Given the description of an element on the screen output the (x, y) to click on. 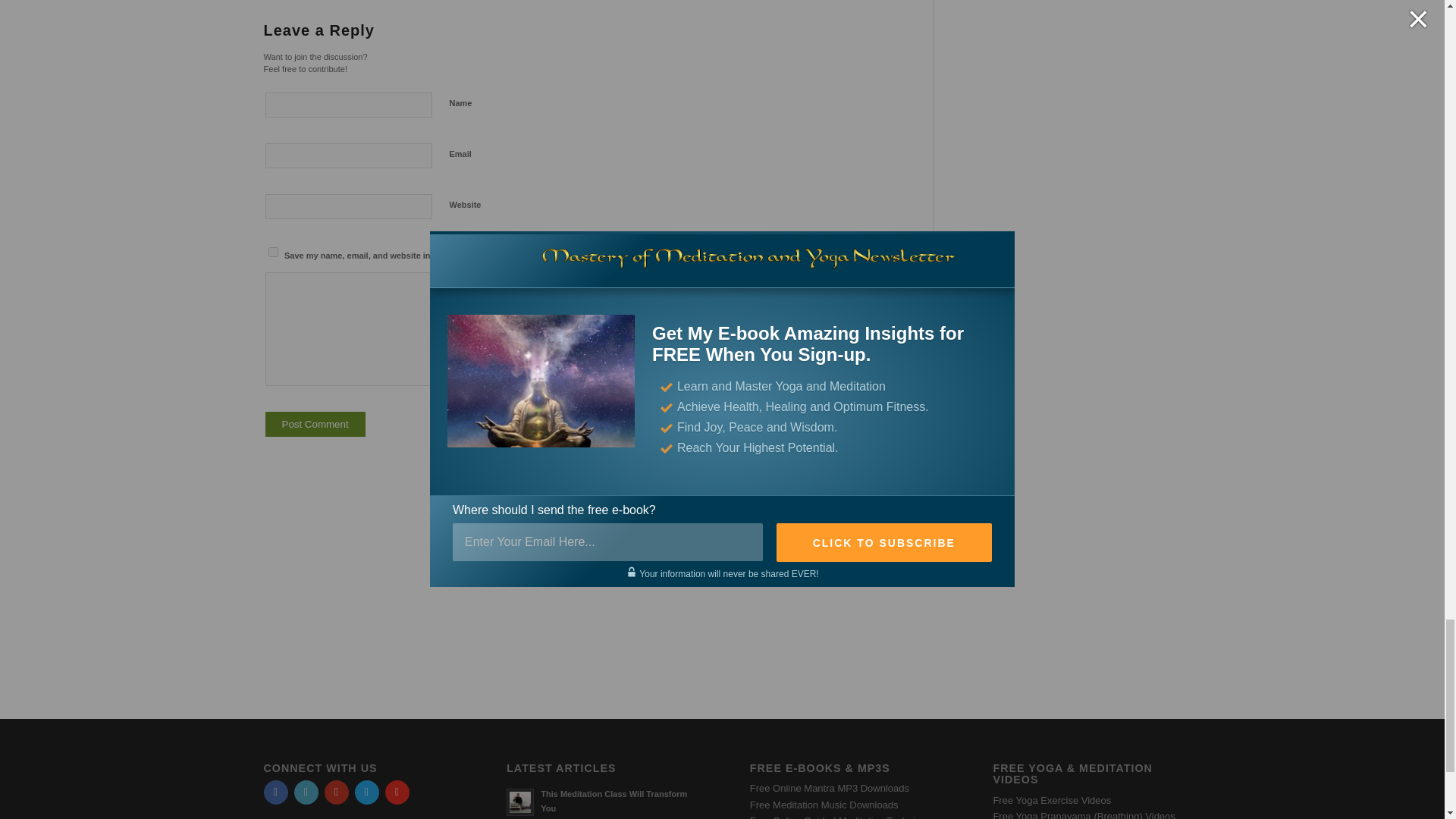
Post Comment (314, 423)
yes (272, 252)
